Given the description of an element on the screen output the (x, y) to click on. 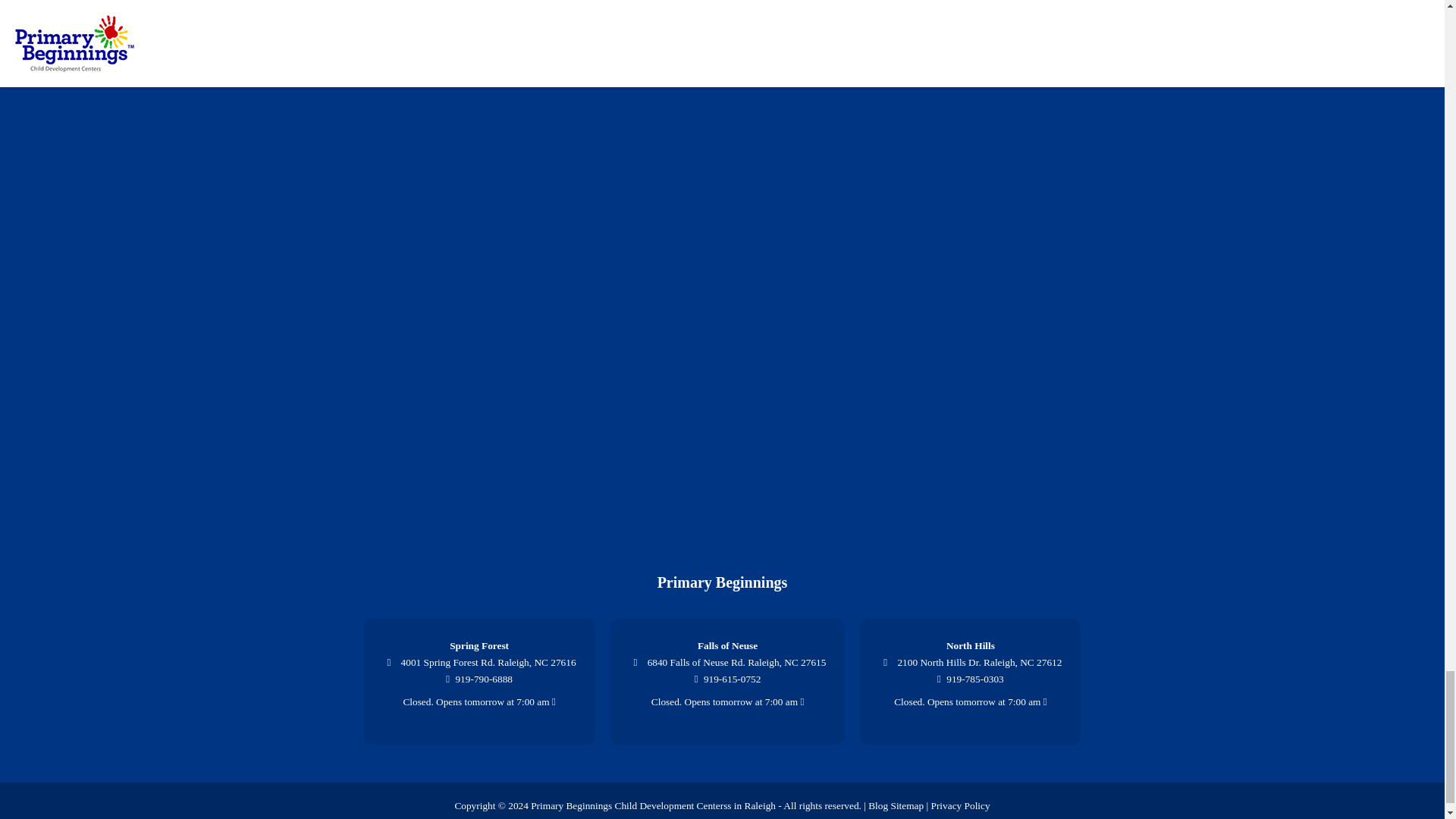
Show business hours (970, 701)
Best SEO Agency (796, 817)
Web Design Services (648, 817)
Show business hours (479, 701)
Digital Marketing Agency (720, 817)
Show business hours (727, 701)
